Given the description of an element on the screen output the (x, y) to click on. 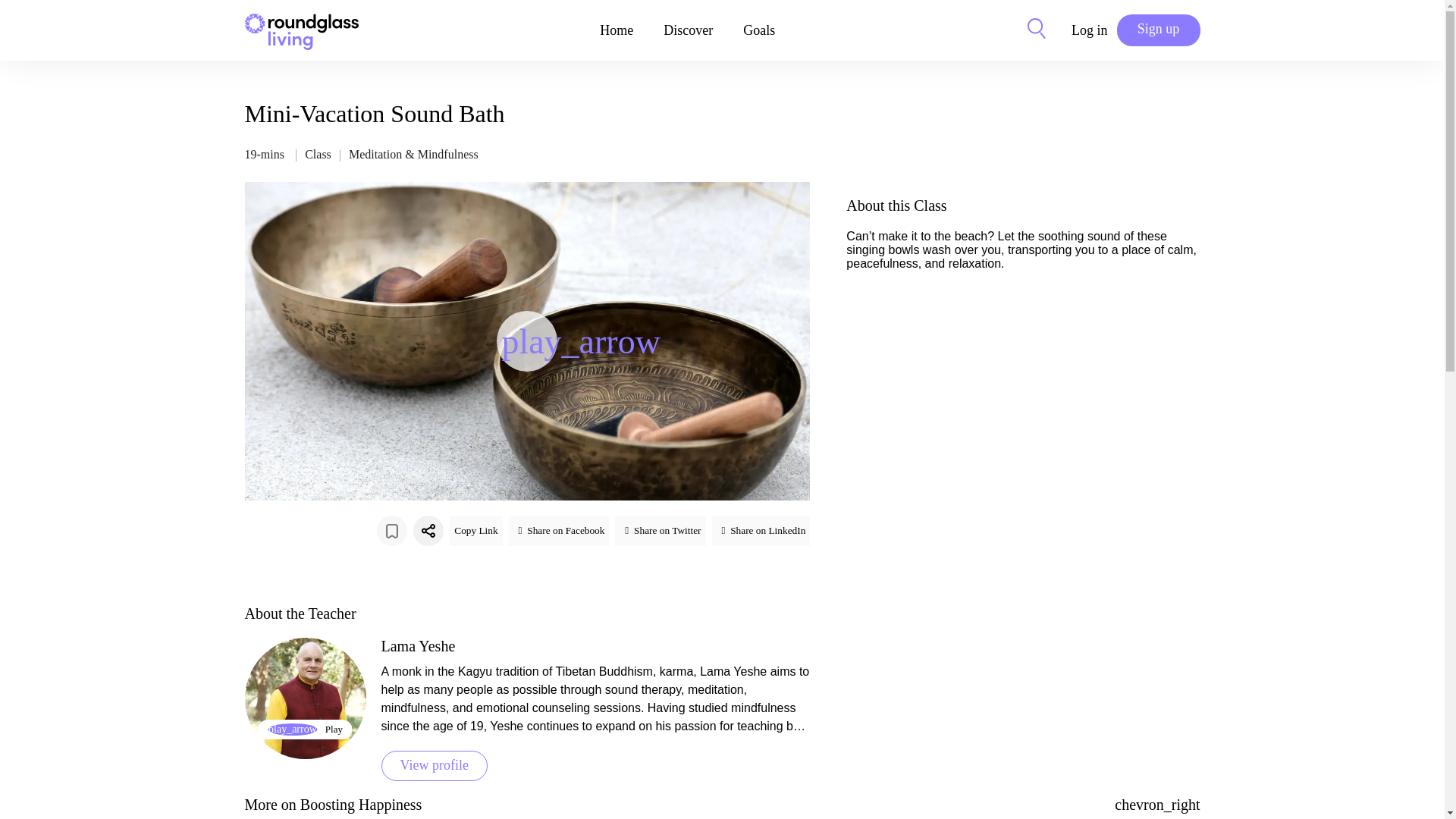
Home (616, 30)
Sign up (1157, 29)
Log in (1089, 30)
